Given the description of an element on the screen output the (x, y) to click on. 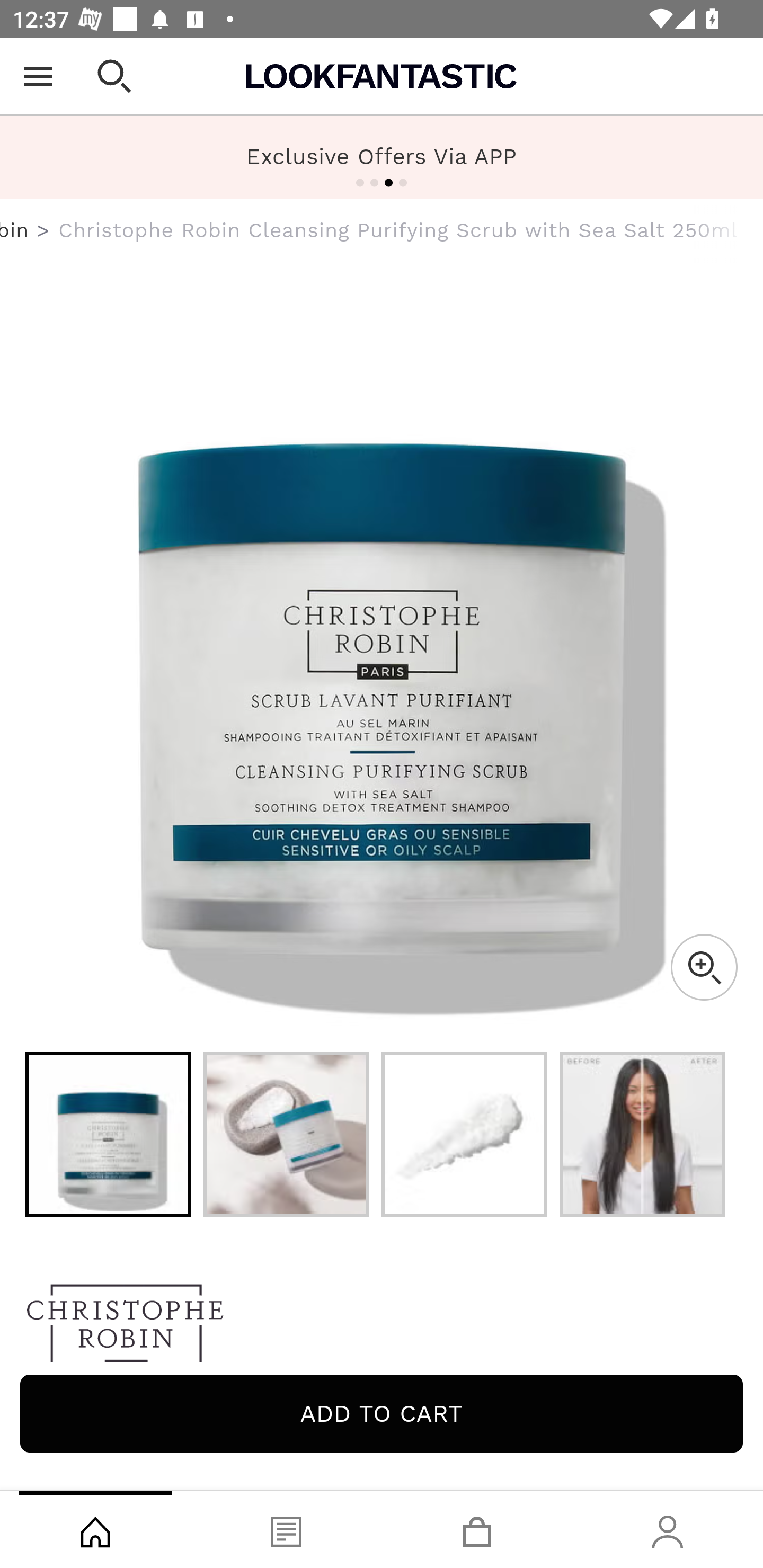
Open Menu (38, 75)
Open search (114, 75)
Lookfantastic USA (381, 75)
Christophe Robin (15, 230)
Zoom (703, 966)
Christophe Robin (381, 1327)
Add to cart (381, 1413)
Shop, tab, 1 of 4 (95, 1529)
Blog, tab, 2 of 4 (285, 1529)
Basket, tab, 3 of 4 (476, 1529)
Account, tab, 4 of 4 (667, 1529)
